Given the description of an element on the screen output the (x, y) to click on. 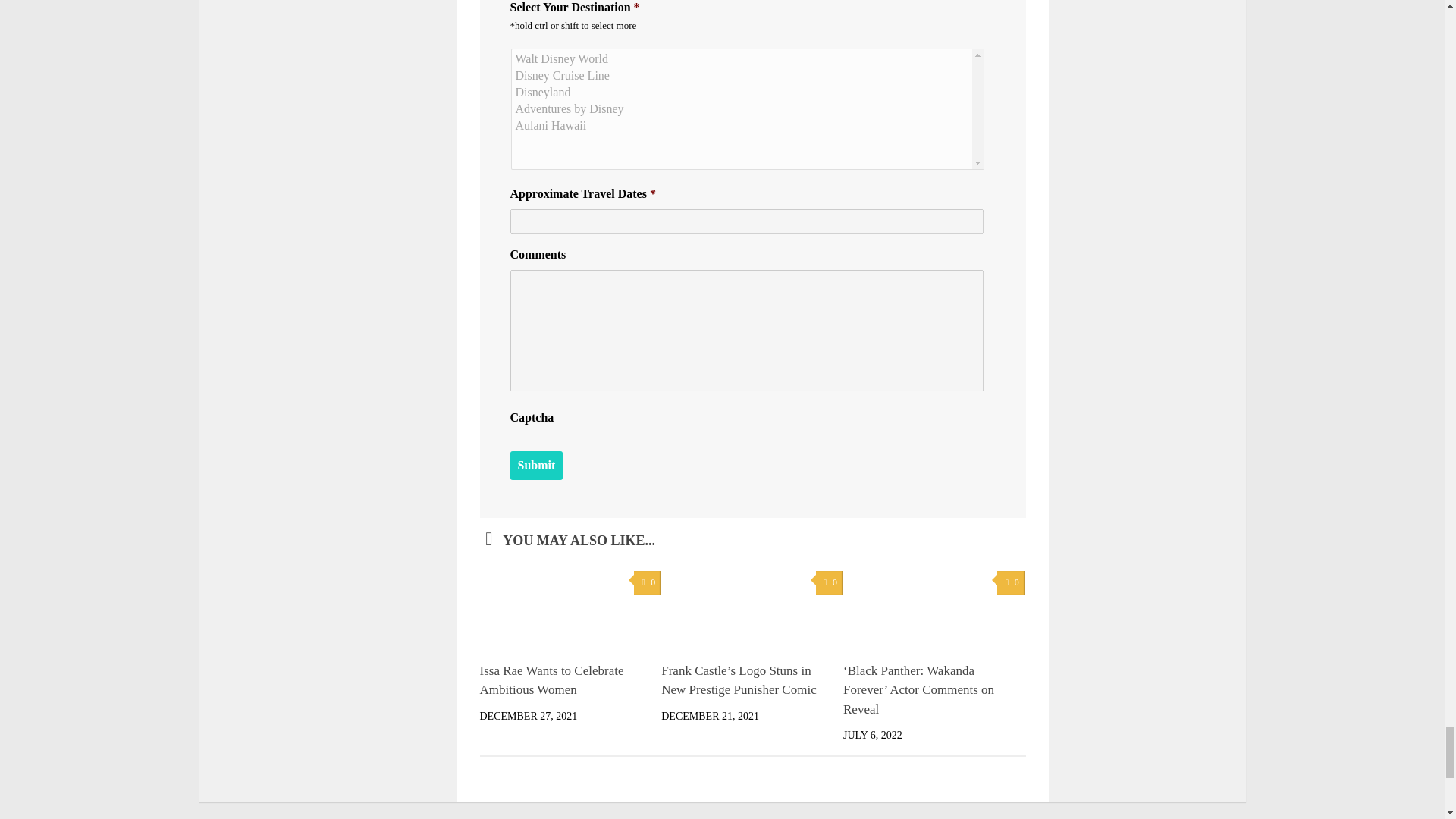
Submit (535, 465)
Submit (535, 465)
